Given the description of an element on the screen output the (x, y) to click on. 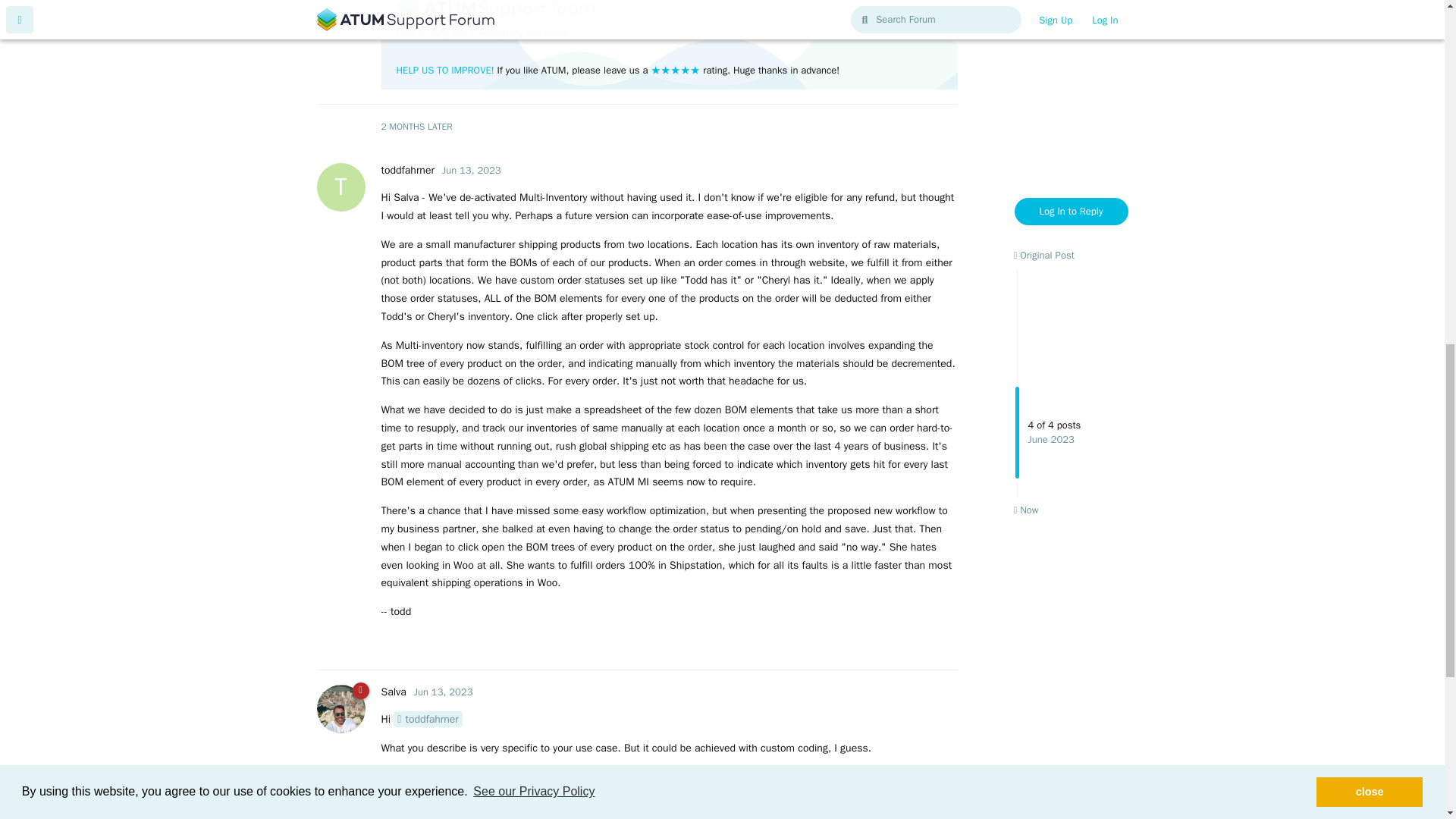
ATUM Inventory - 5 stars rating (444, 69)
Salva (393, 691)
Jun 13, 2023 (471, 169)
ATUM Inventory 5 stars rating (675, 69)
toddfahrner (428, 719)
HELP US TO IMPROVE! (444, 69)
Jun 13, 2023 (406, 169)
Tuesday, June 13, 2023 10:17 AM (443, 691)
Tuesday, June 13, 2023 2:38 PM (471, 169)
